Given the description of an element on the screen output the (x, y) to click on. 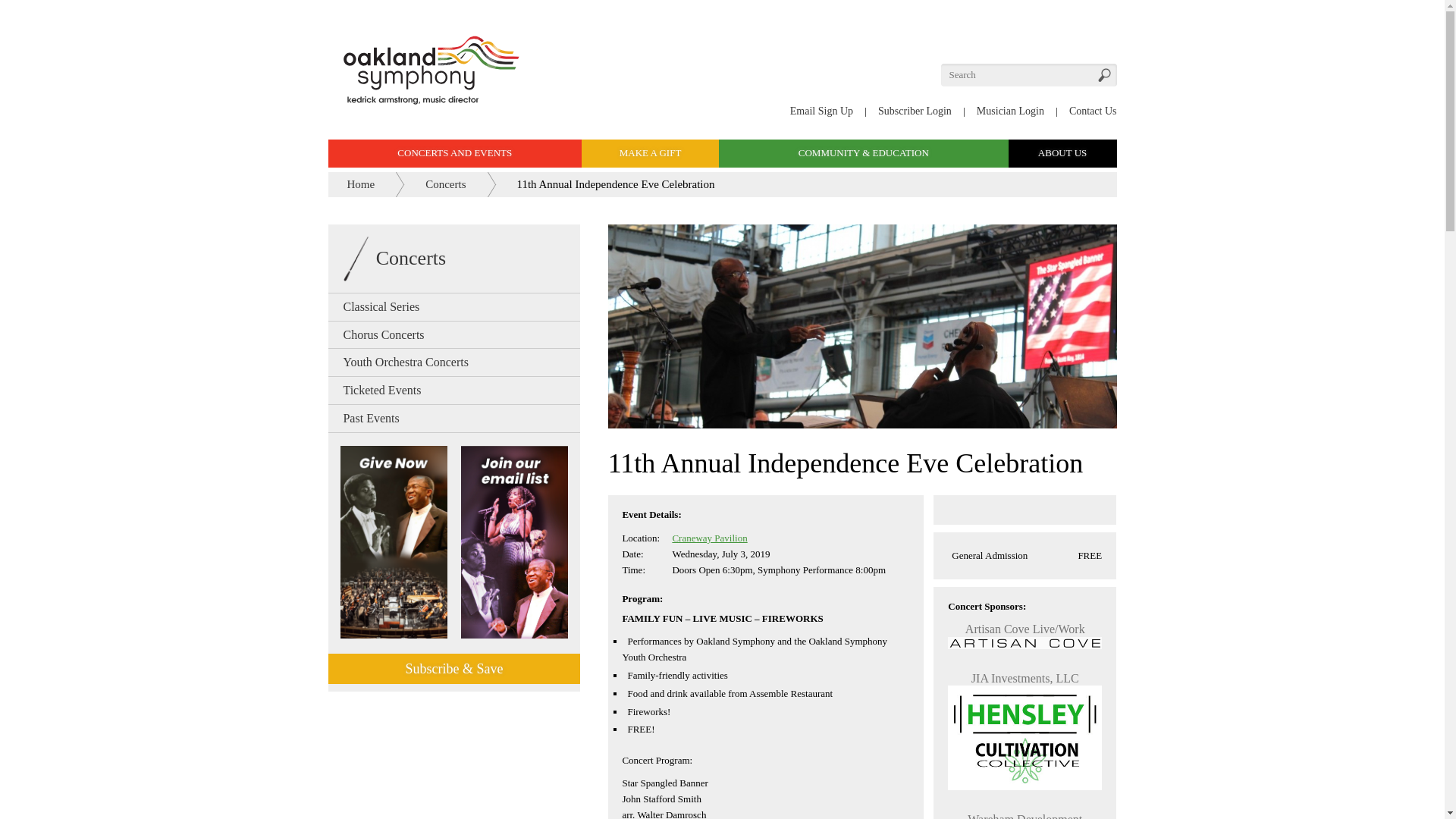
Search (1104, 74)
Home (361, 184)
Search (1104, 74)
Go to Concerts. (445, 184)
